Given the description of an element on the screen output the (x, y) to click on. 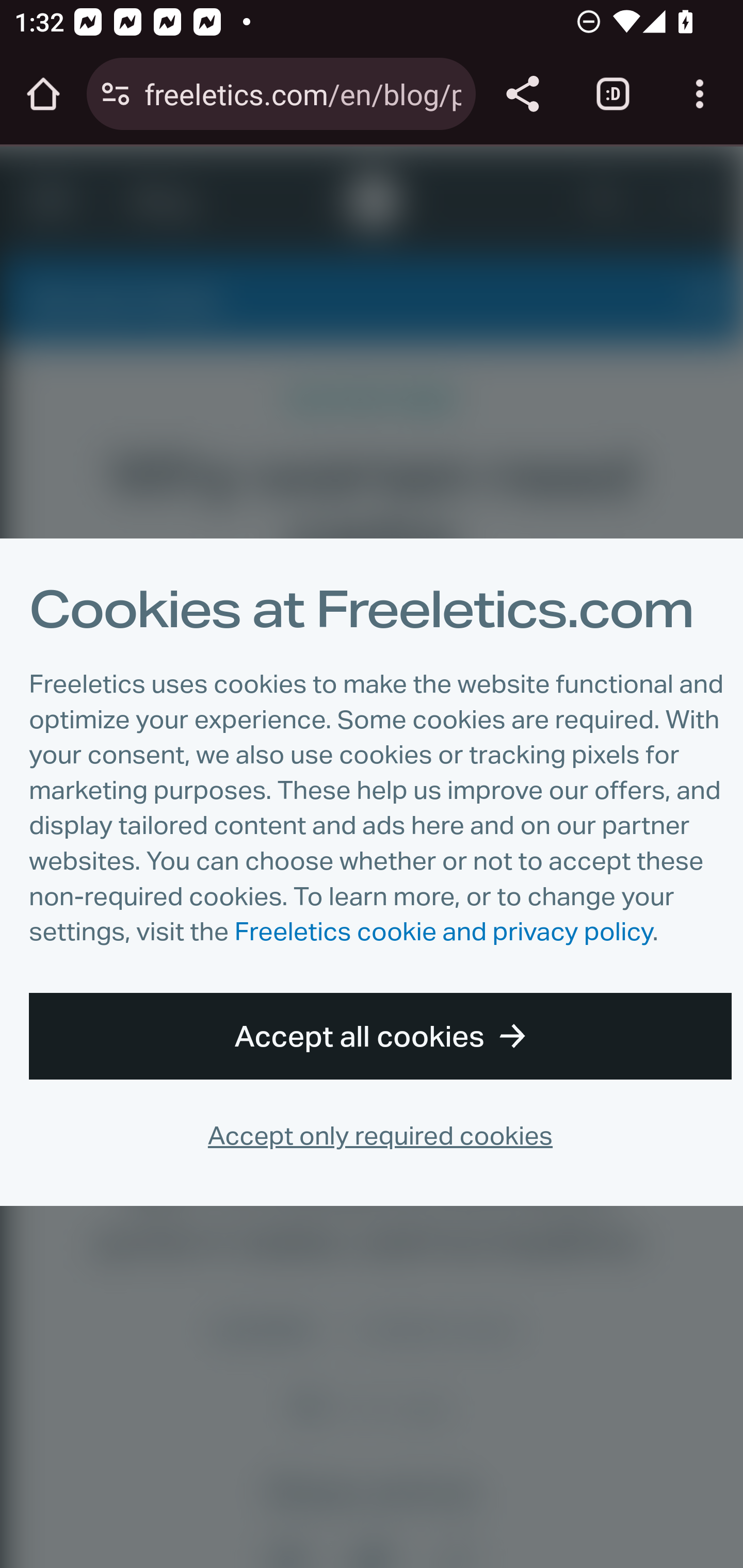
Open the home page (43, 93)
Connection is secure (115, 93)
Share (522, 93)
Switch or close tabs (612, 93)
Customize and control Google Chrome (699, 93)
Freeletics cookie and privacy policy (442, 932)
Accept all cookies (380, 1034)
Accept only required cookies (379, 1134)
